Given the description of an element on the screen output the (x, y) to click on. 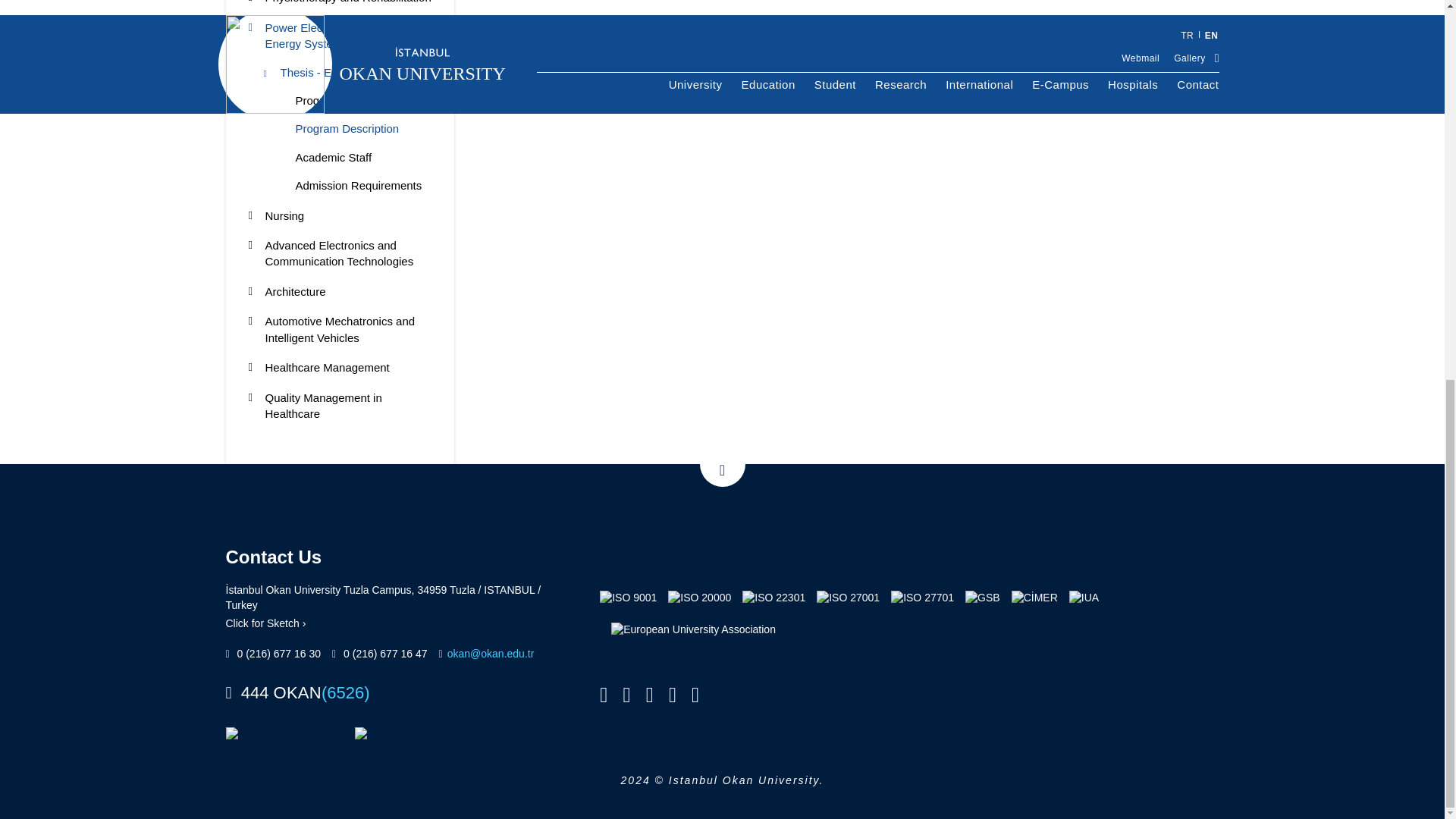
Instagram (649, 694)
Okan Hastanesi (646, 554)
Twitter (626, 694)
Facebook (603, 694)
Linkedin (694, 694)
Aday Okan (857, 554)
Youtube (672, 694)
GSB (982, 606)
Diploma Eki (962, 554)
European University Association (693, 638)
IUA (1083, 606)
